Given the description of an element on the screen output the (x, y) to click on. 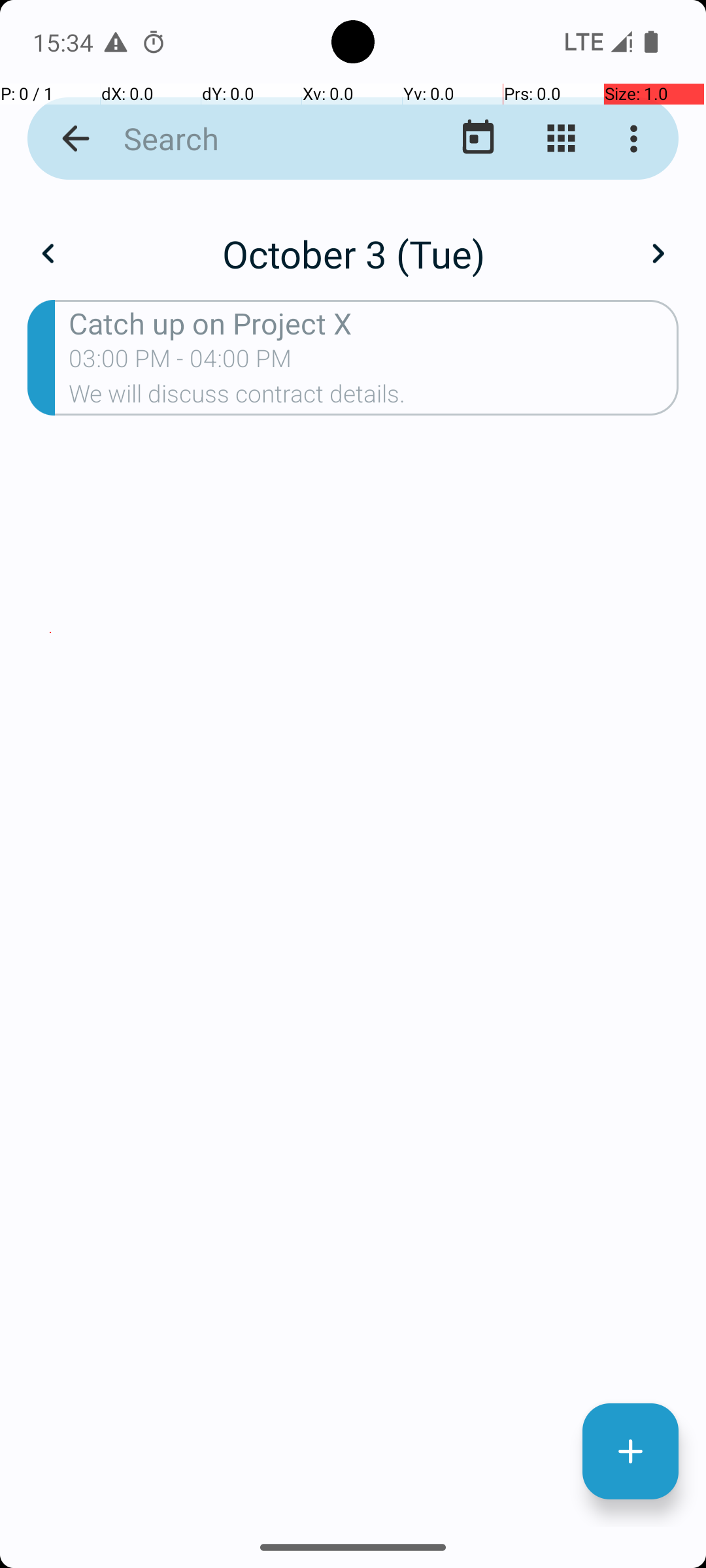
Go to today Element type: android.widget.Button (477, 138)
October Element type: android.widget.TextView (352, 239)
October 3 (Tue) Element type: android.widget.TextView (352, 253)
Catch up on Project X Element type: android.widget.TextView (373, 321)
03:00 PM - 04:00 PM Element type: android.widget.TextView (179, 362)
We will discuss contract details. Element type: android.widget.TextView (373, 397)
